Given the description of an element on the screen output the (x, y) to click on. 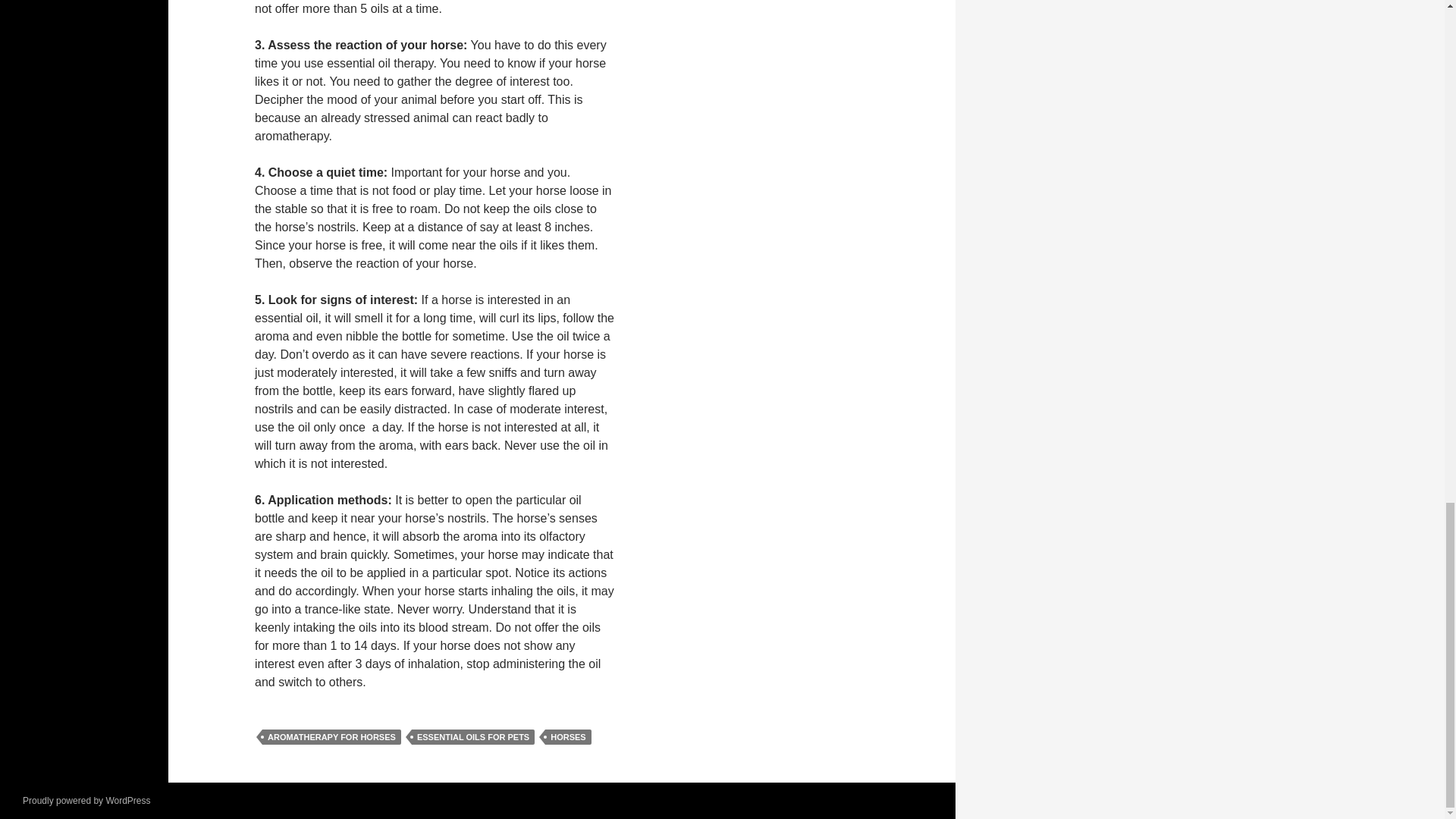
HORSES (567, 736)
ESSENTIAL OILS FOR PETS (473, 736)
AROMATHERAPY FOR HORSES (331, 736)
